Given the description of an element on the screen output the (x, y) to click on. 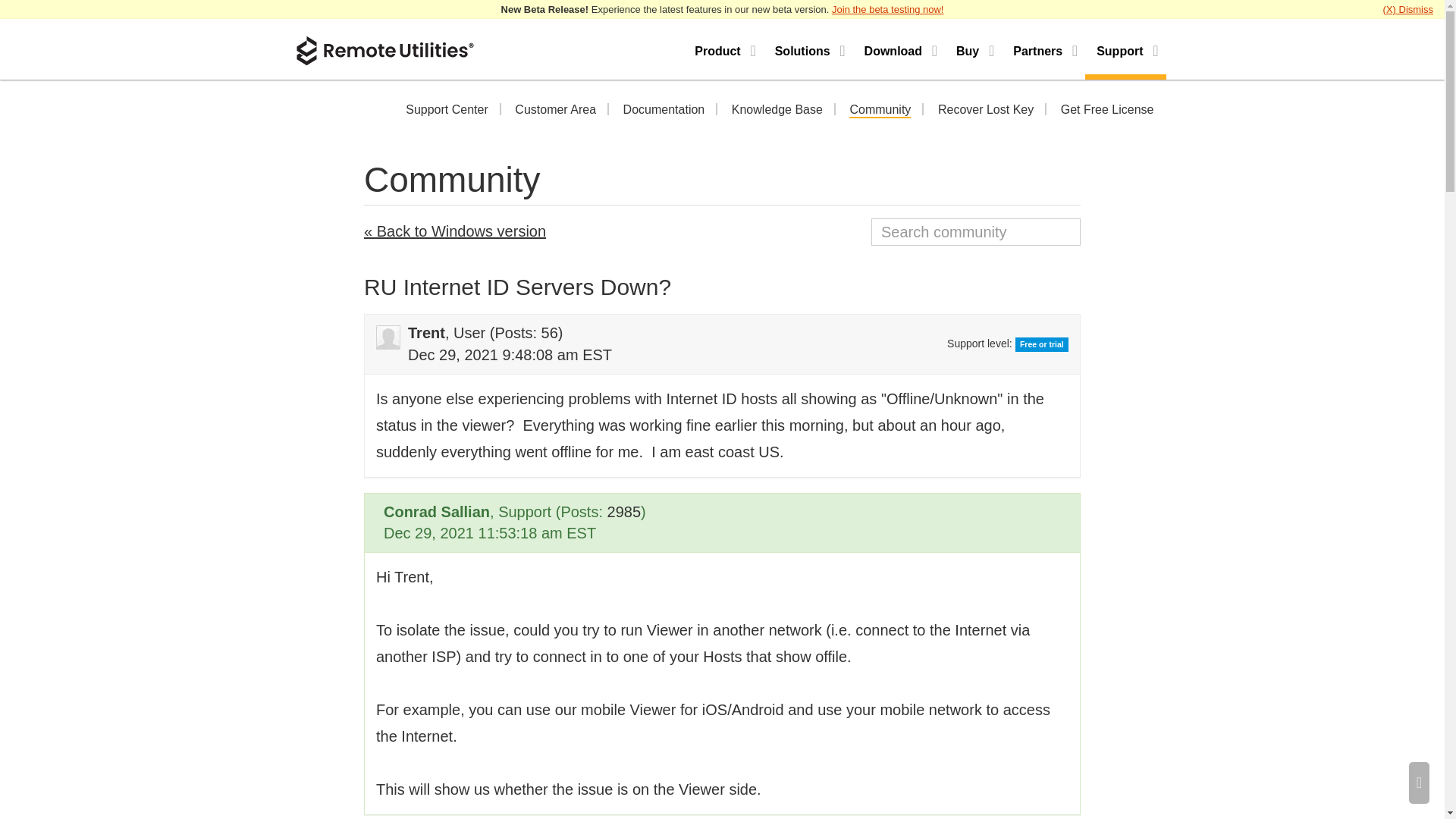
Product (722, 48)
Download (898, 48)
Join the beta testing now! (887, 9)
Support Center (446, 110)
Buy (972, 48)
Partners (1042, 48)
Solutions (807, 48)
Support (1125, 48)
